Given the description of an element on the screen output the (x, y) to click on. 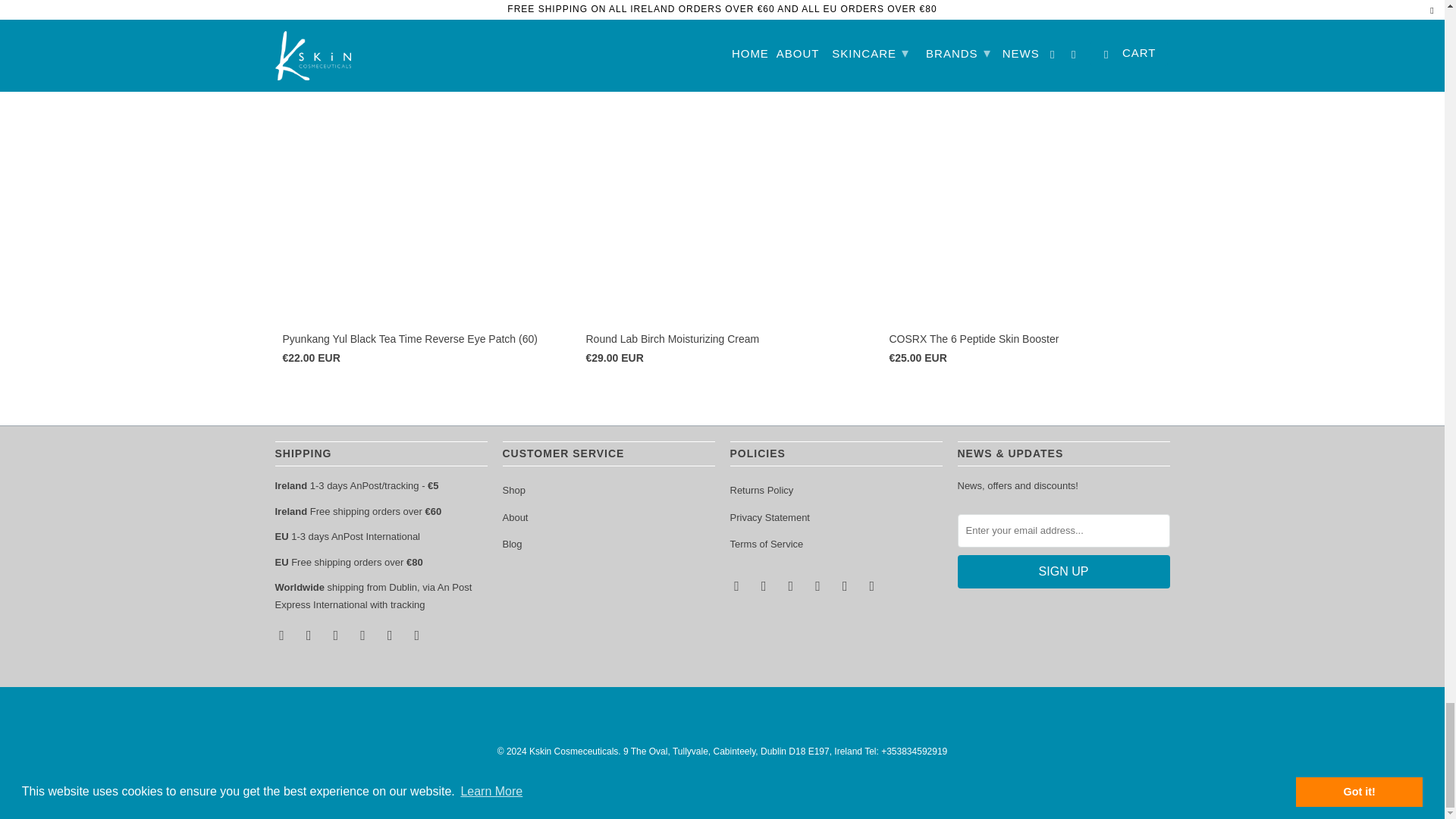
Visa (890, 782)
Google Pay (638, 782)
Kskin Cosmeceuticals on Twitter (283, 634)
Kskin Cosmeceuticals on YouTube (337, 634)
Kskin Cosmeceuticals on Pinterest (363, 634)
American Express (553, 782)
Mastercard (721, 782)
Email Kskin Cosmeceuticals (418, 634)
PayPal (764, 782)
Kskin Cosmeceuticals on Twitter (737, 585)
Shop Pay (805, 782)
Sign Up (1062, 571)
Kskin Cosmeceuticals on Facebook (309, 634)
Kskin Cosmeceuticals on Facebook (765, 585)
Maestro (680, 782)
